Given the description of an element on the screen output the (x, y) to click on. 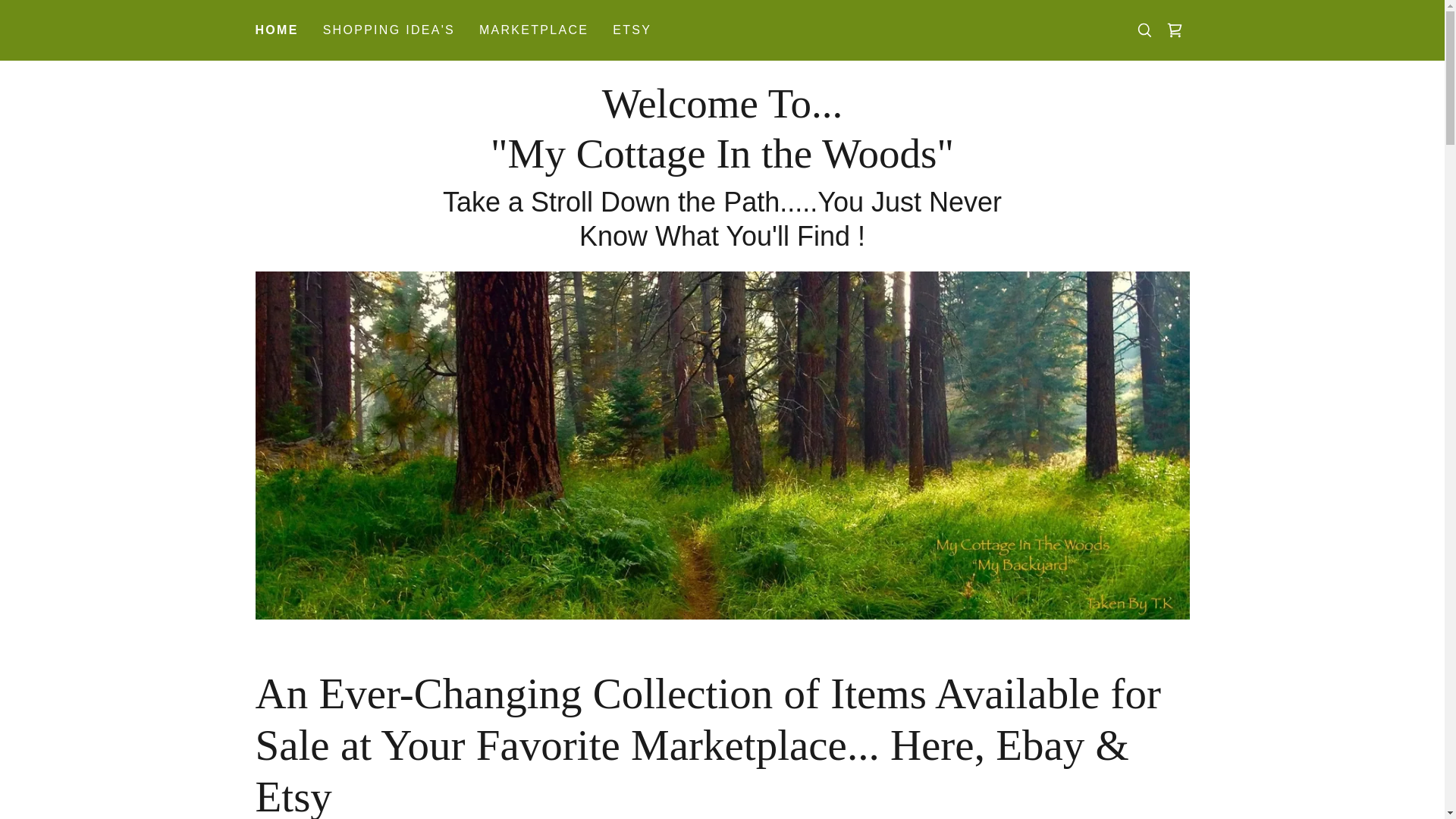
MARKETPLACE (533, 30)
HOME (276, 30)
SHOPPING IDEA'S (721, 162)
ETSY (389, 30)
